Given the description of an element on the screen output the (x, y) to click on. 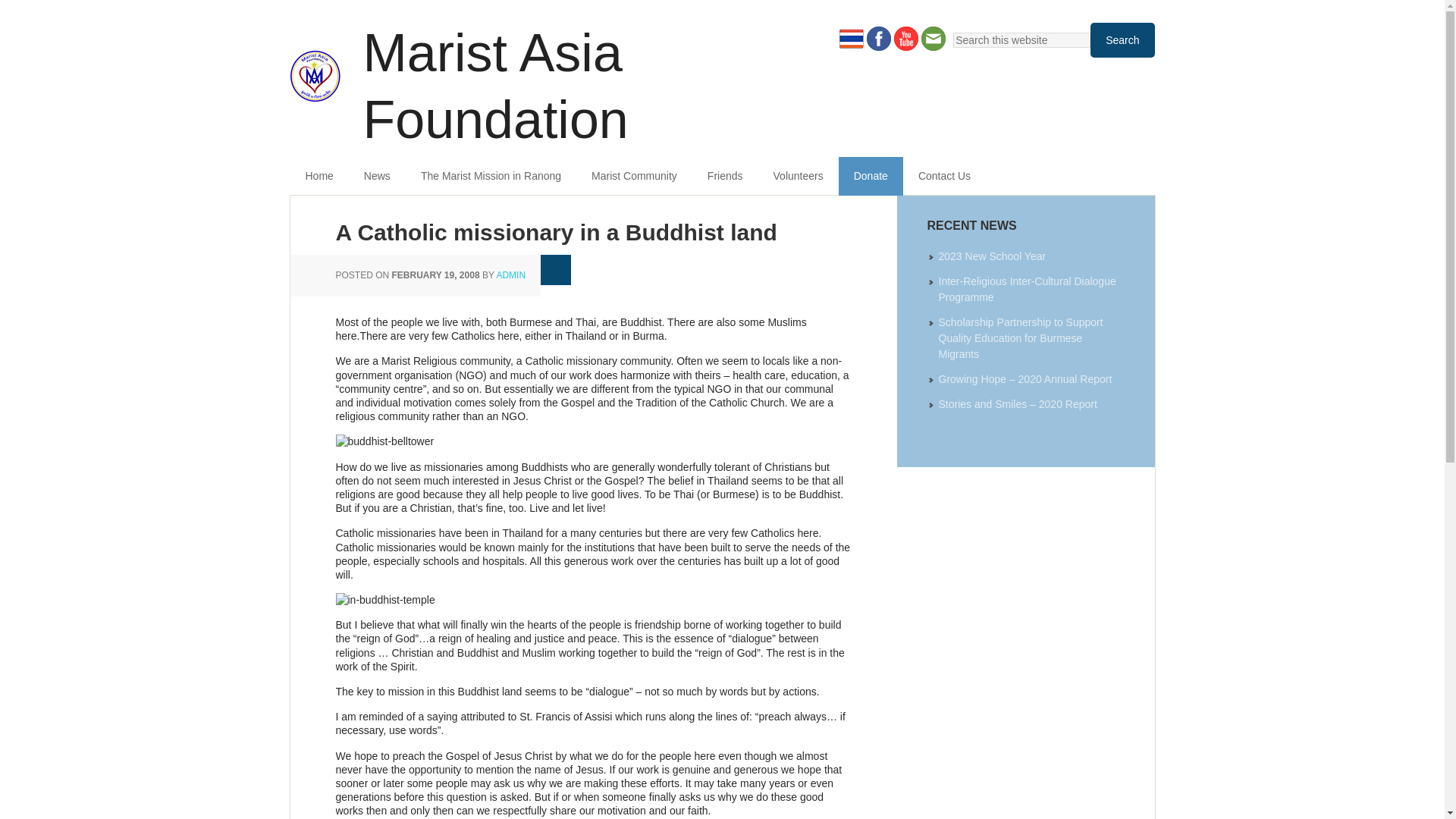
Volunteers (798, 176)
News (377, 176)
The Marist Mission in Ranong (491, 176)
Search (1122, 39)
2023 New School Year (992, 256)
Friends (725, 176)
Search (1122, 39)
Marist Community (634, 176)
Inter-Religious Inter-Cultural Dialogue Programme (1027, 289)
Donate (870, 176)
Search (1122, 39)
ADMIN (510, 275)
Contact Us (943, 176)
Marist Asia Foundation (585, 76)
